Given the description of an element on the screen output the (x, y) to click on. 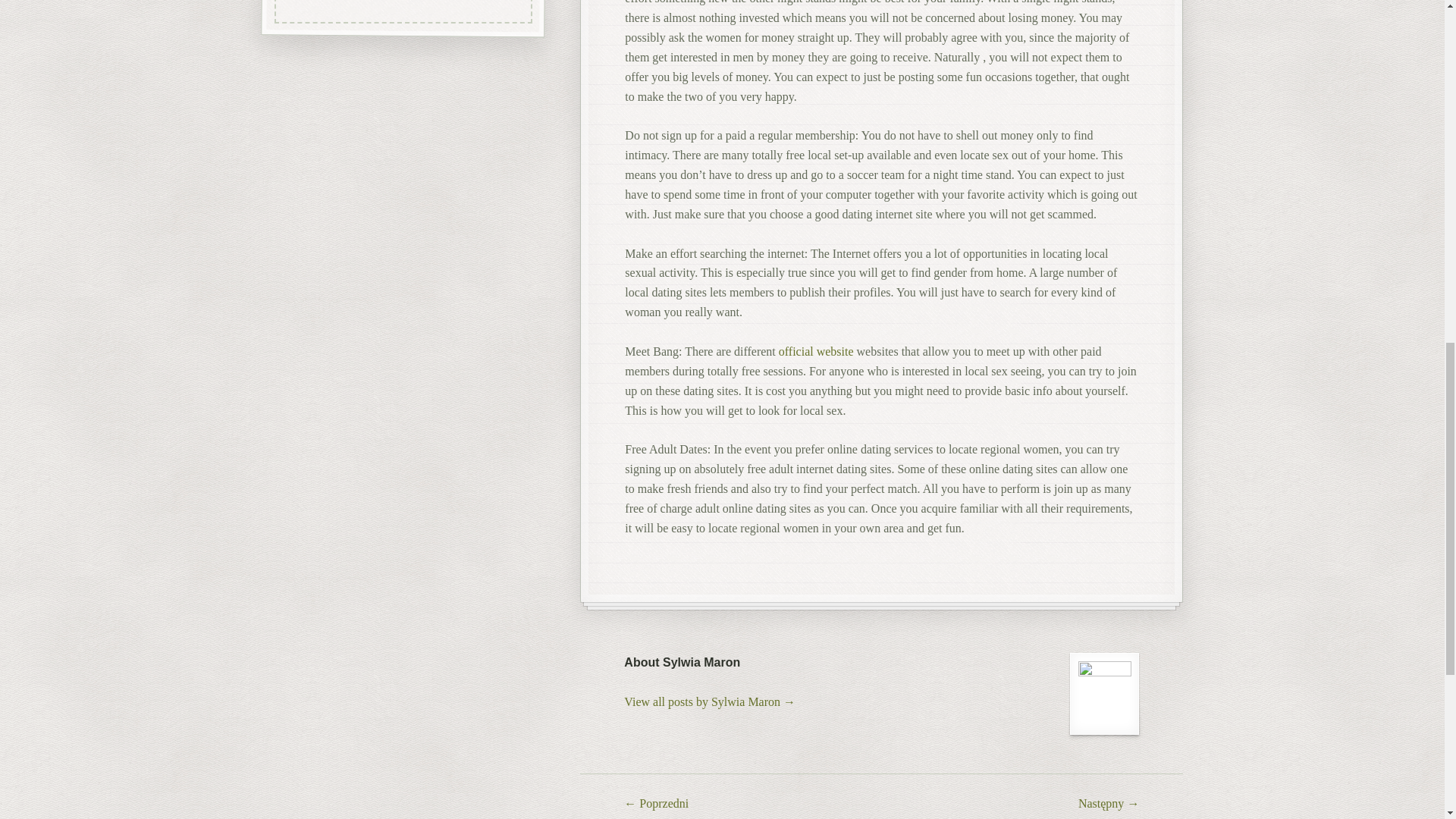
official website (815, 350)
